Given the description of an element on the screen output the (x, y) to click on. 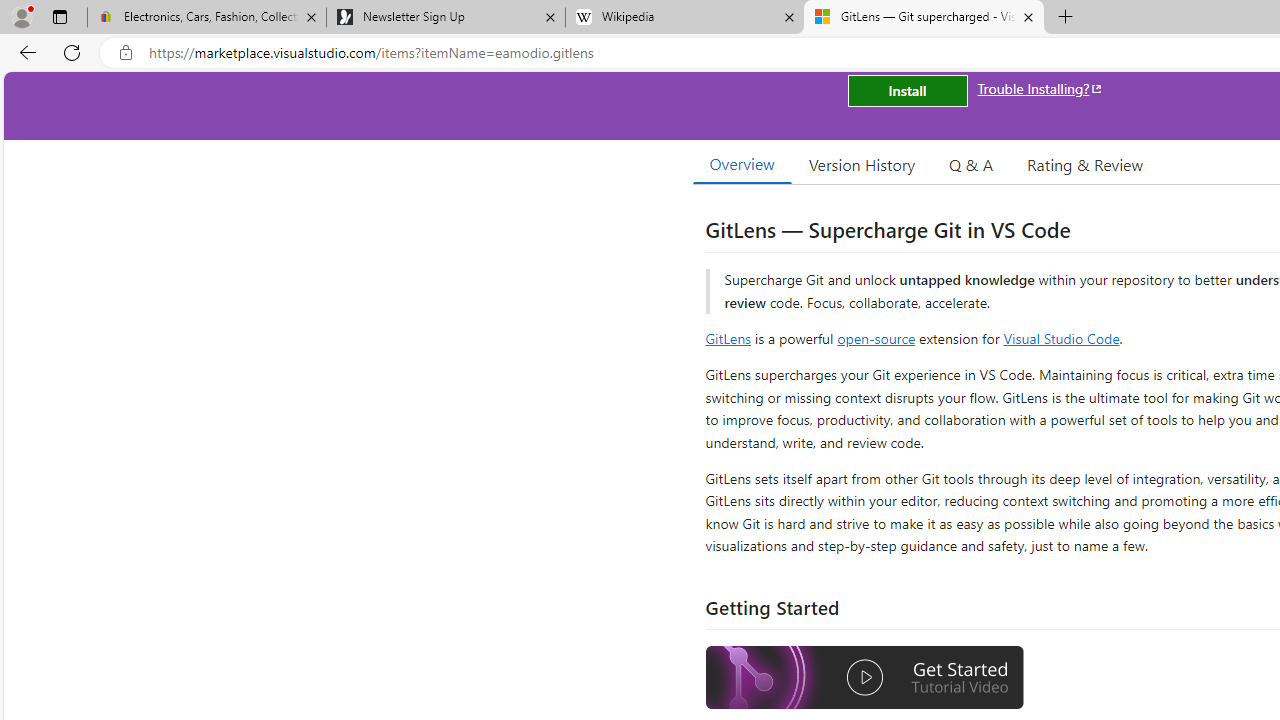
Watch the GitLens Getting Started video (865, 678)
Overview (742, 164)
Watch the GitLens Getting Started video (865, 679)
GitLens (728, 337)
Visual Studio Code (1061, 337)
Wikipedia (684, 17)
Newsletter Sign Up (445, 17)
Install (907, 90)
open-source (876, 337)
